Given the description of an element on the screen output the (x, y) to click on. 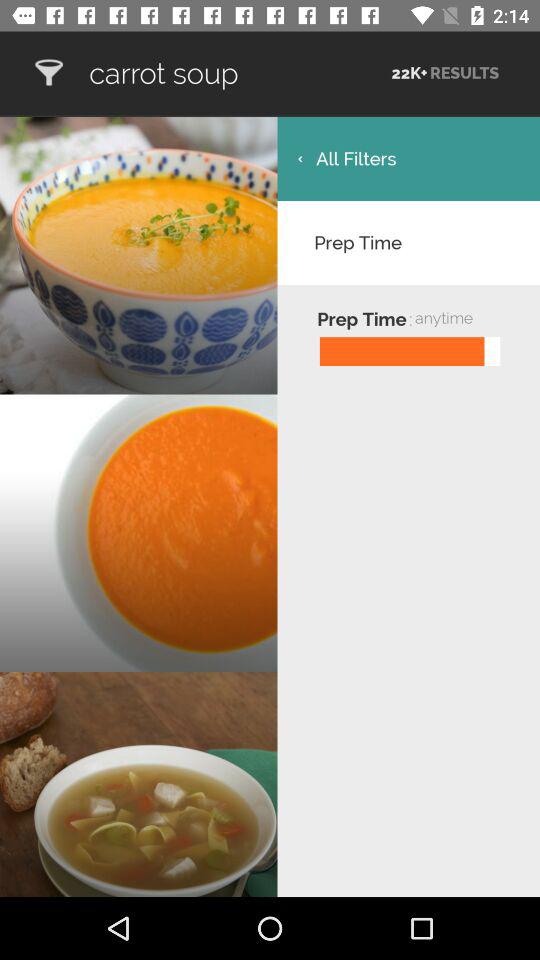
click item to the left of the 22k+ icon (238, 73)
